Given the description of an element on the screen output the (x, y) to click on. 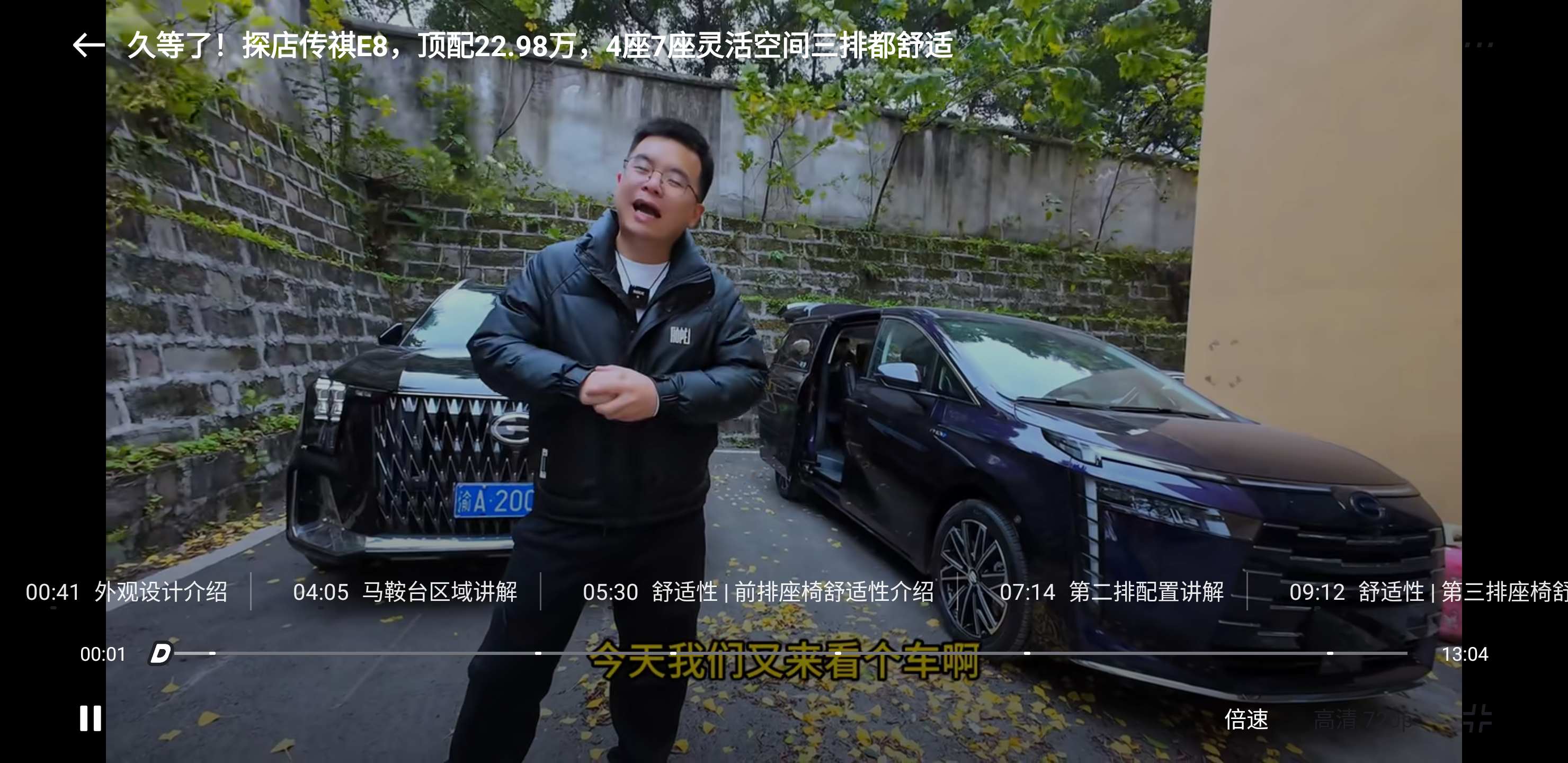
 (89, 44)
 (1478, 44)
00:41 外观设计介绍 (125, 591)
04:05 马鞍台区域讲解 (404, 591)
05:30 舒适性 | 前排座椅舒适性介绍 (757, 591)
07:14 第二排配置讲解 (1110, 591)
09:12 舒适性 | 第三排座椅舒适性介绍 (1415, 591)
 (90, 718)
 (1476, 718)
倍速 (1246, 718)
高清 720p (1363, 718)
